Given the description of an element on the screen output the (x, y) to click on. 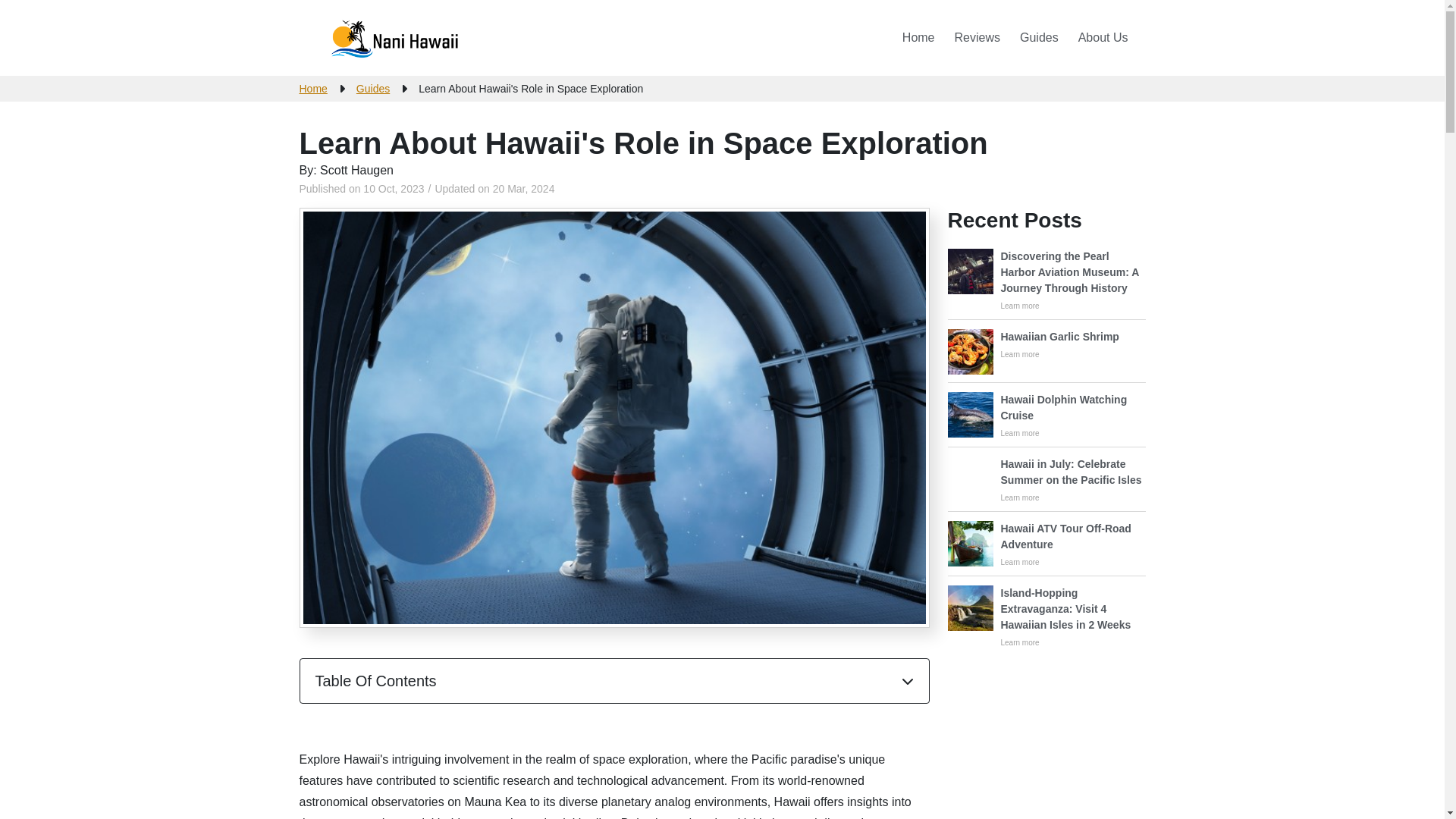
Hawaii Dolphin Watching Cruise (1046, 415)
About Us (1102, 37)
Hawaii in July: Celebrate Summer on the Pacific Isles (1046, 479)
Home (918, 37)
Guides (373, 88)
About Us (1102, 37)
Hawaiian Garlic Shrimp (1033, 351)
Nani Hawaii (394, 38)
Home (1046, 415)
Home (312, 88)
Home (918, 37)
